Given the description of an element on the screen output the (x, y) to click on. 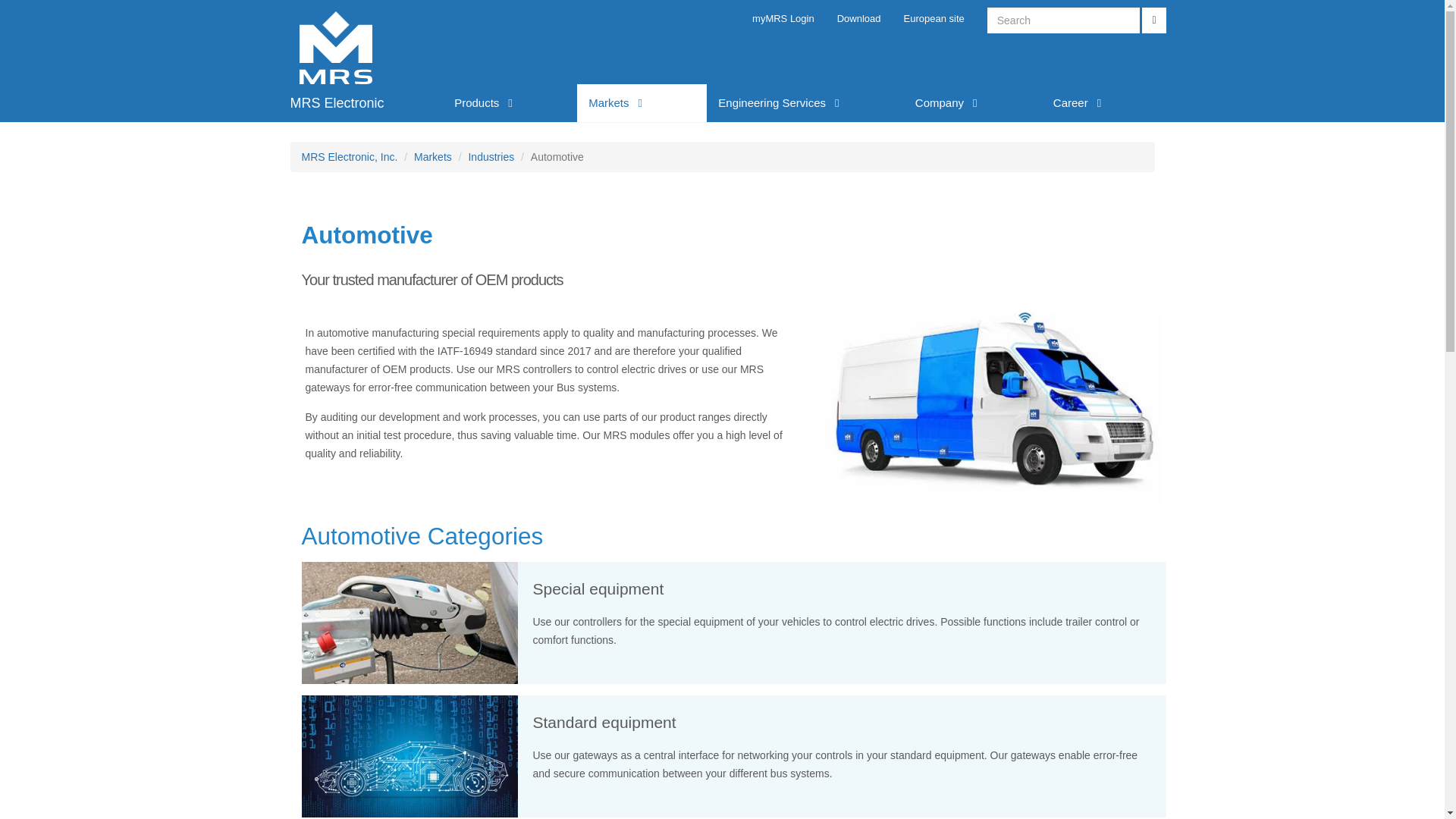
European site (933, 18)
myMRS Login (783, 18)
MRS Electronic (361, 103)
Download (858, 18)
myMRS Login (783, 18)
Download (858, 18)
Standard equipment (409, 756)
Markets (641, 103)
Products (509, 103)
Special equipment (403, 619)
